Given the description of an element on the screen output the (x, y) to click on. 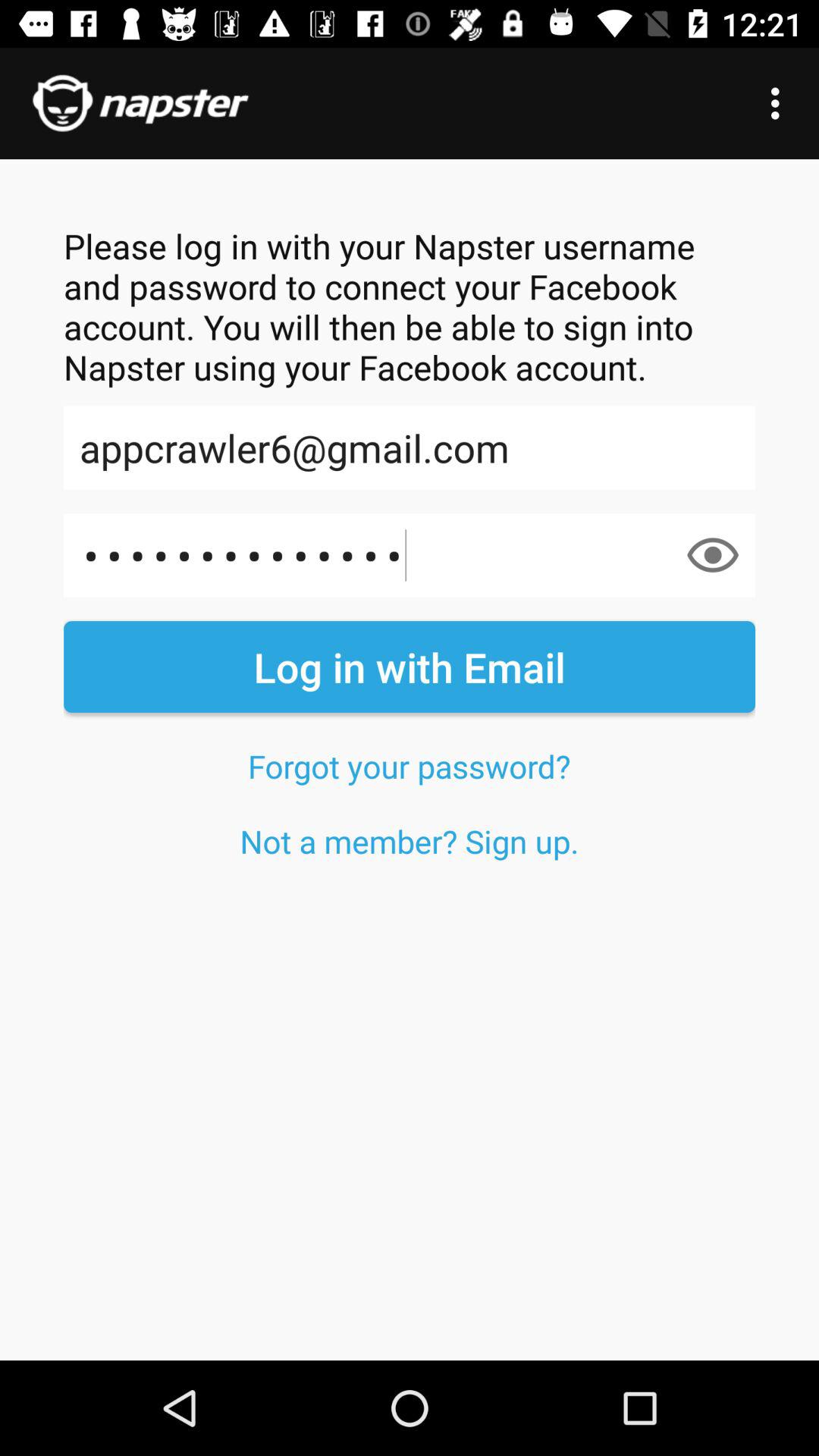
open appcrawler6@gmail.com item (409, 447)
